Given the description of an element on the screen output the (x, y) to click on. 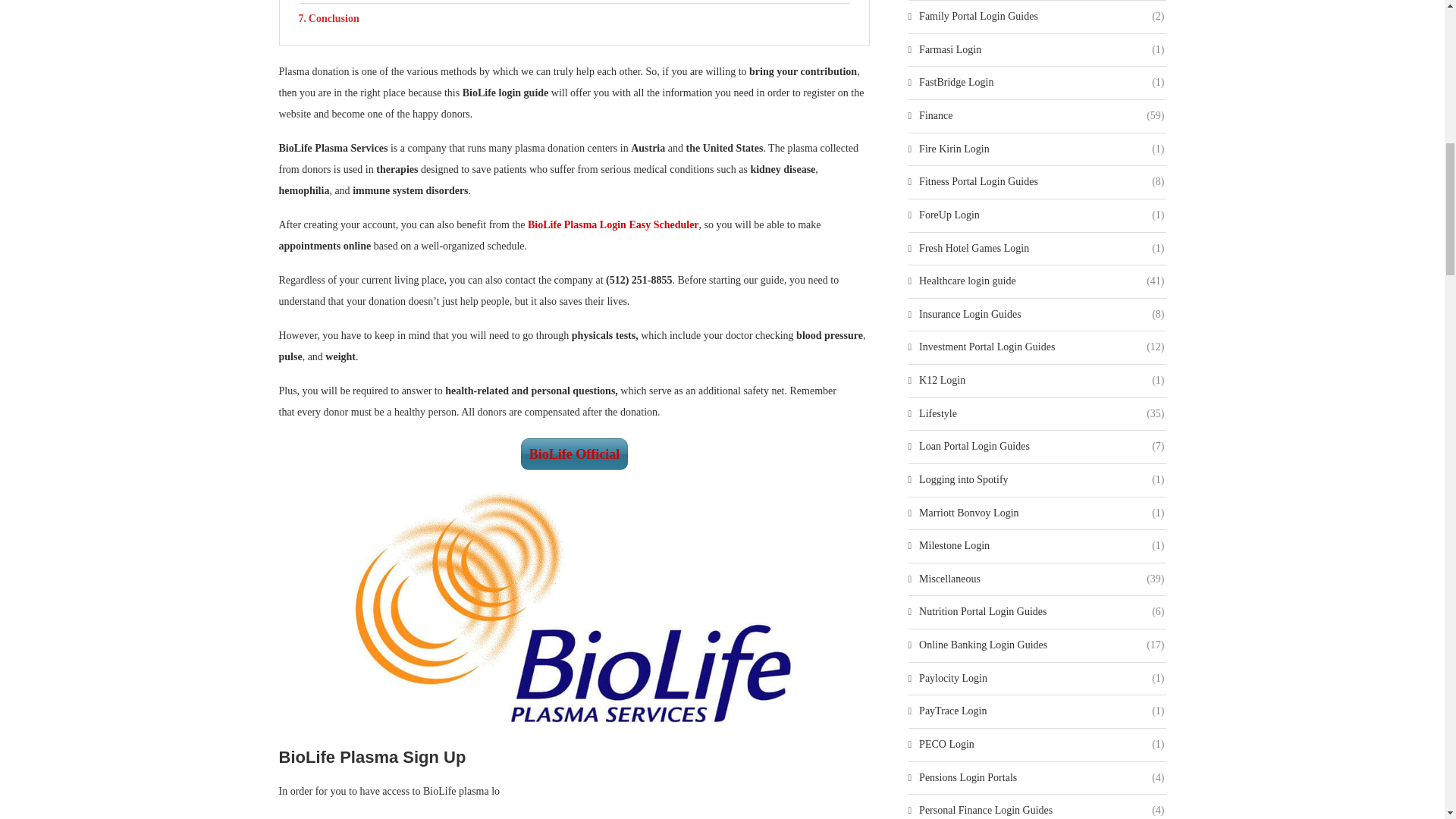
Conclusion (574, 19)
